Given the description of an element on the screen output the (x, y) to click on. 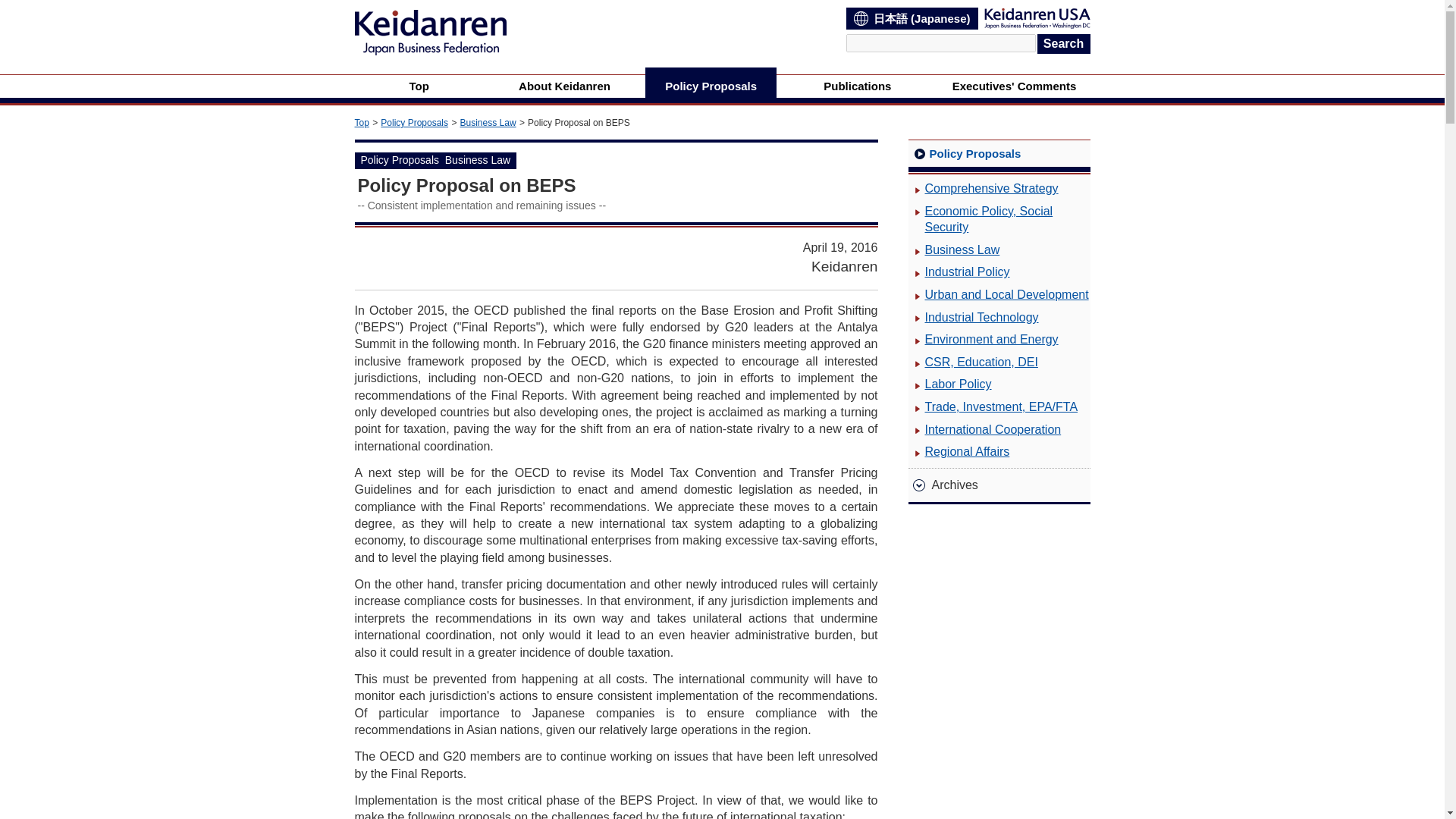
Labor Policy (949, 384)
Business Law (954, 249)
Industrial Policy (959, 271)
CSR, Education, DEI (973, 362)
Executives' Comments (1013, 86)
International Cooperation (984, 429)
Urban and Local Development (998, 294)
Industrial Technology (973, 317)
Top (362, 122)
Search (1063, 44)
Comprehensive Strategy (983, 188)
Business Law (488, 122)
Top (419, 86)
Environment and Energy (983, 339)
About Keidanren (564, 86)
